Given the description of an element on the screen output the (x, y) to click on. 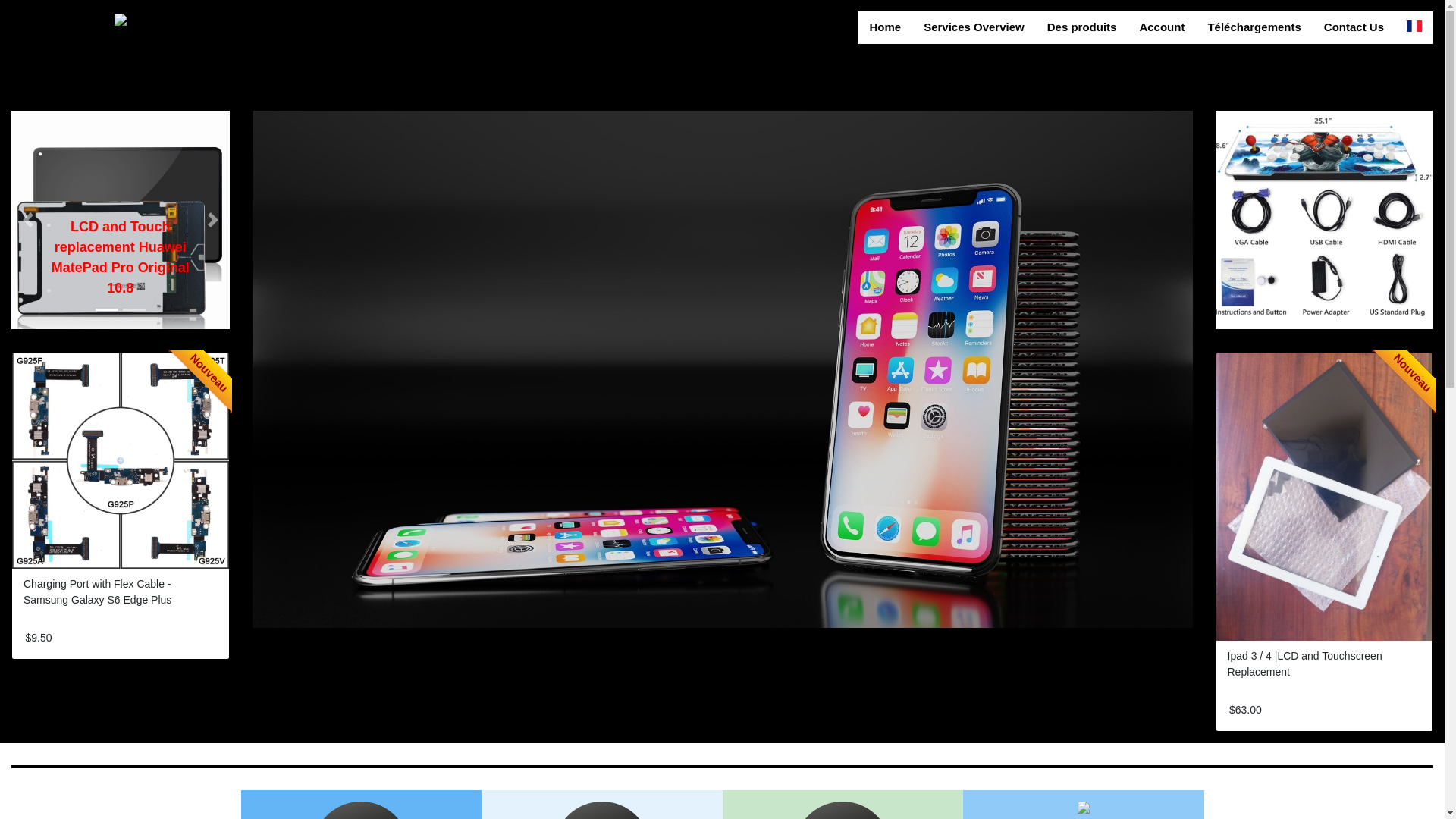
Charging Port with Flex Cable - Samsung Galaxy S6 Edge Plus (97, 592)
Services Overview (974, 27)
Contact Us (1353, 27)
Suivant (212, 219)
Home (885, 27)
Account (1161, 27)
Des produits (1081, 27)
